Given the description of an element on the screen output the (x, y) to click on. 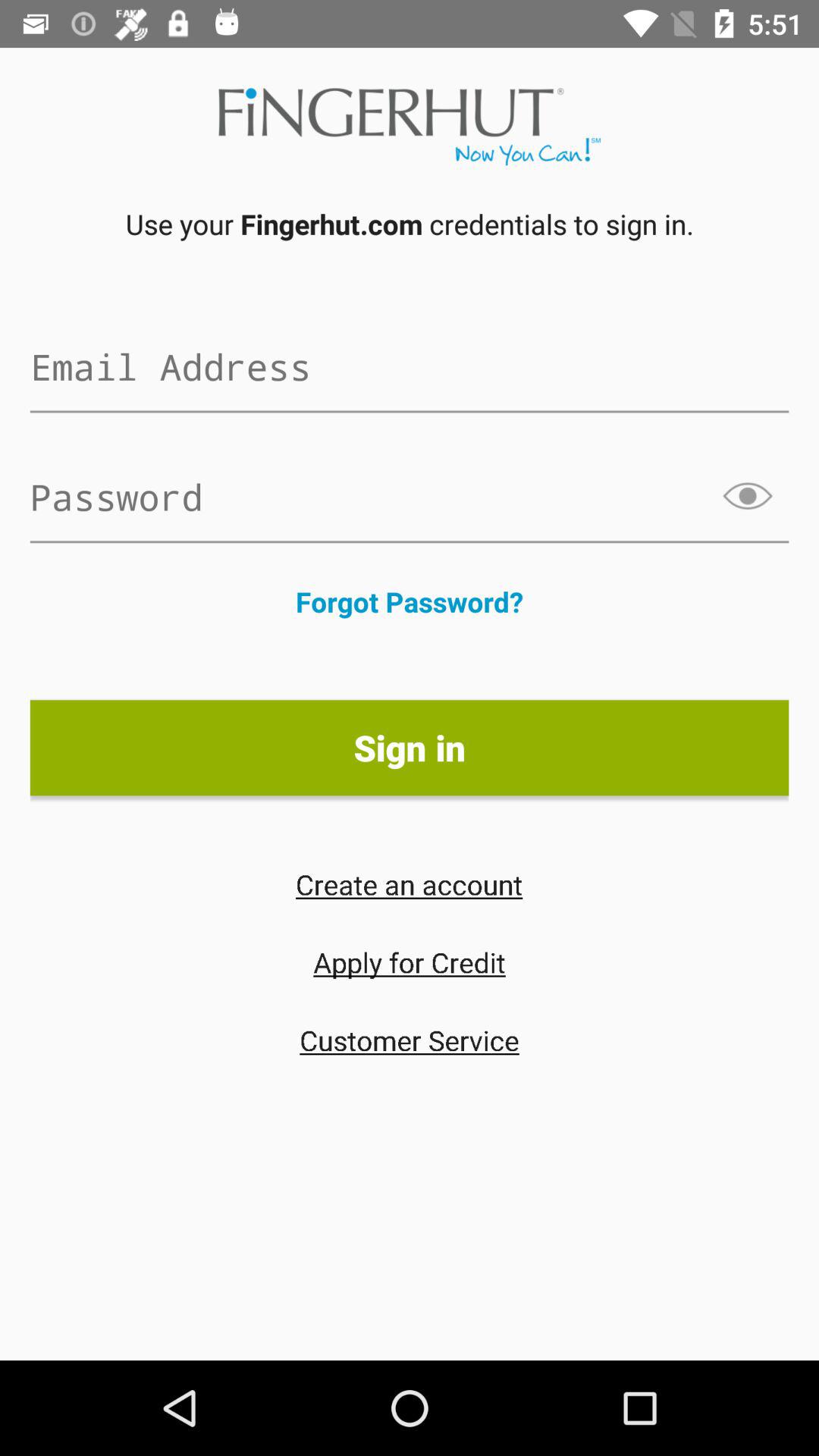
select icon above customer service (409, 962)
